Given the description of an element on the screen output the (x, y) to click on. 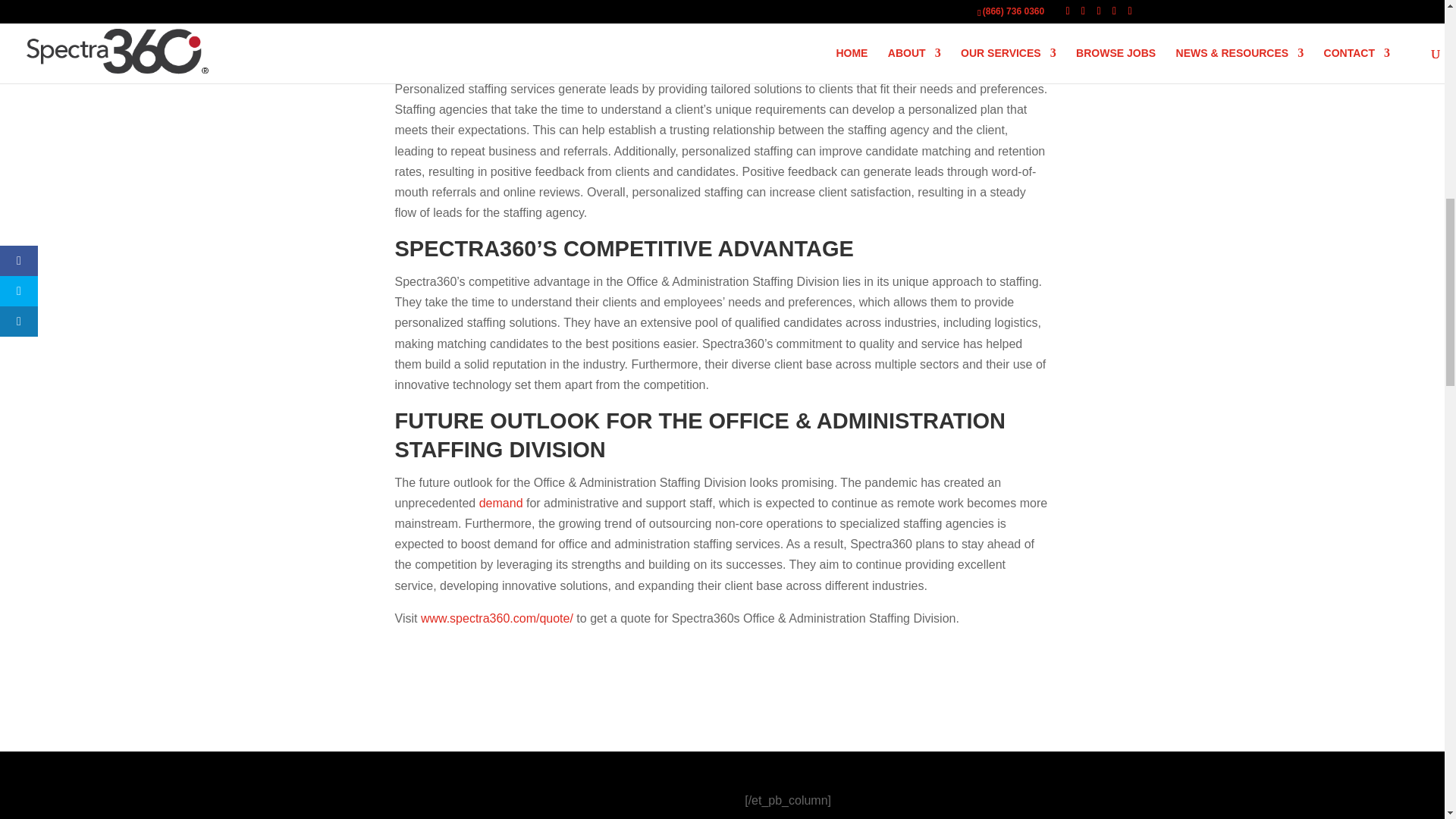
demand (500, 502)
